Given the description of an element on the screen output the (x, y) to click on. 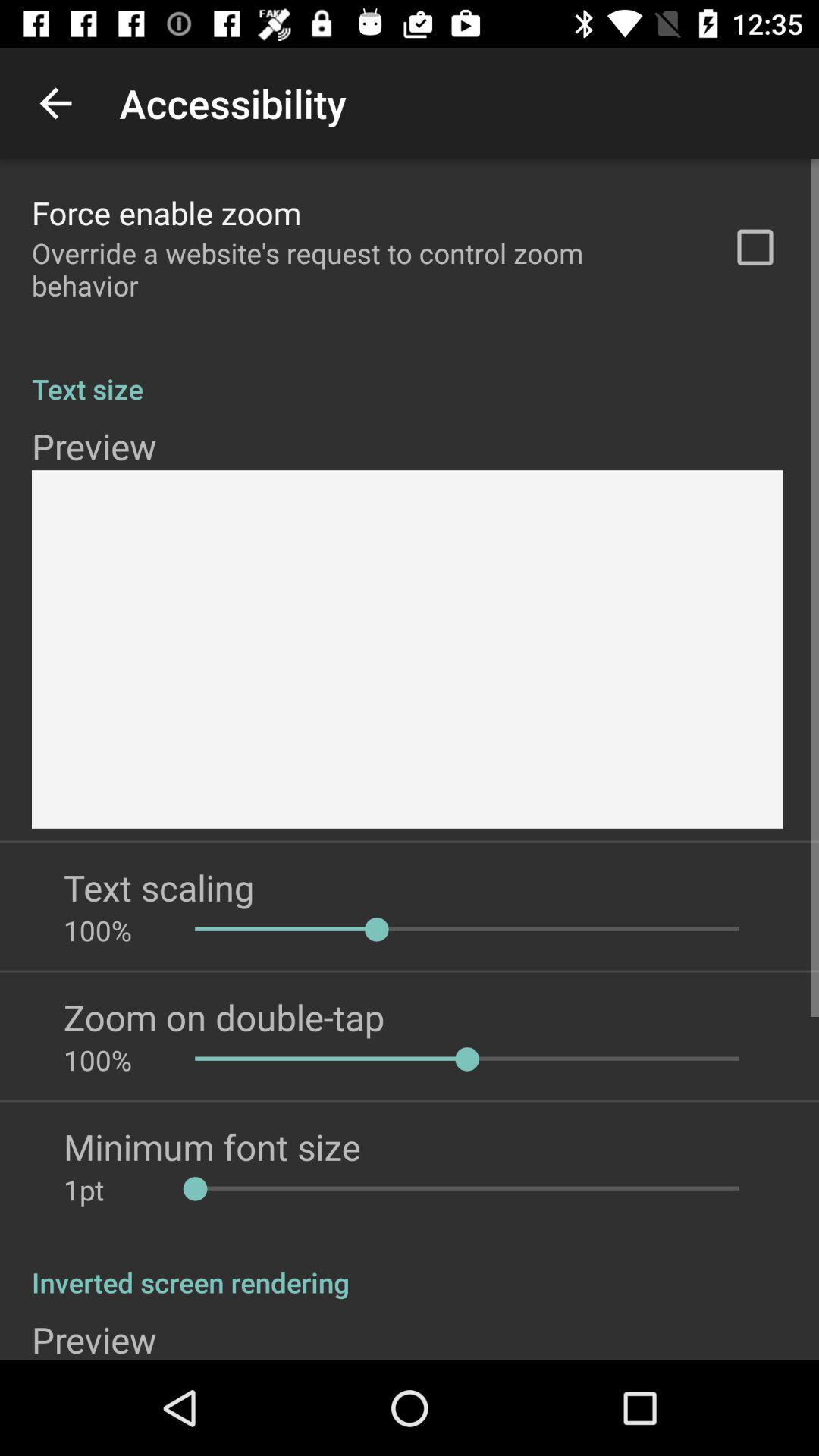
choose the item at the top right corner (755, 247)
